Given the description of an element on the screen output the (x, y) to click on. 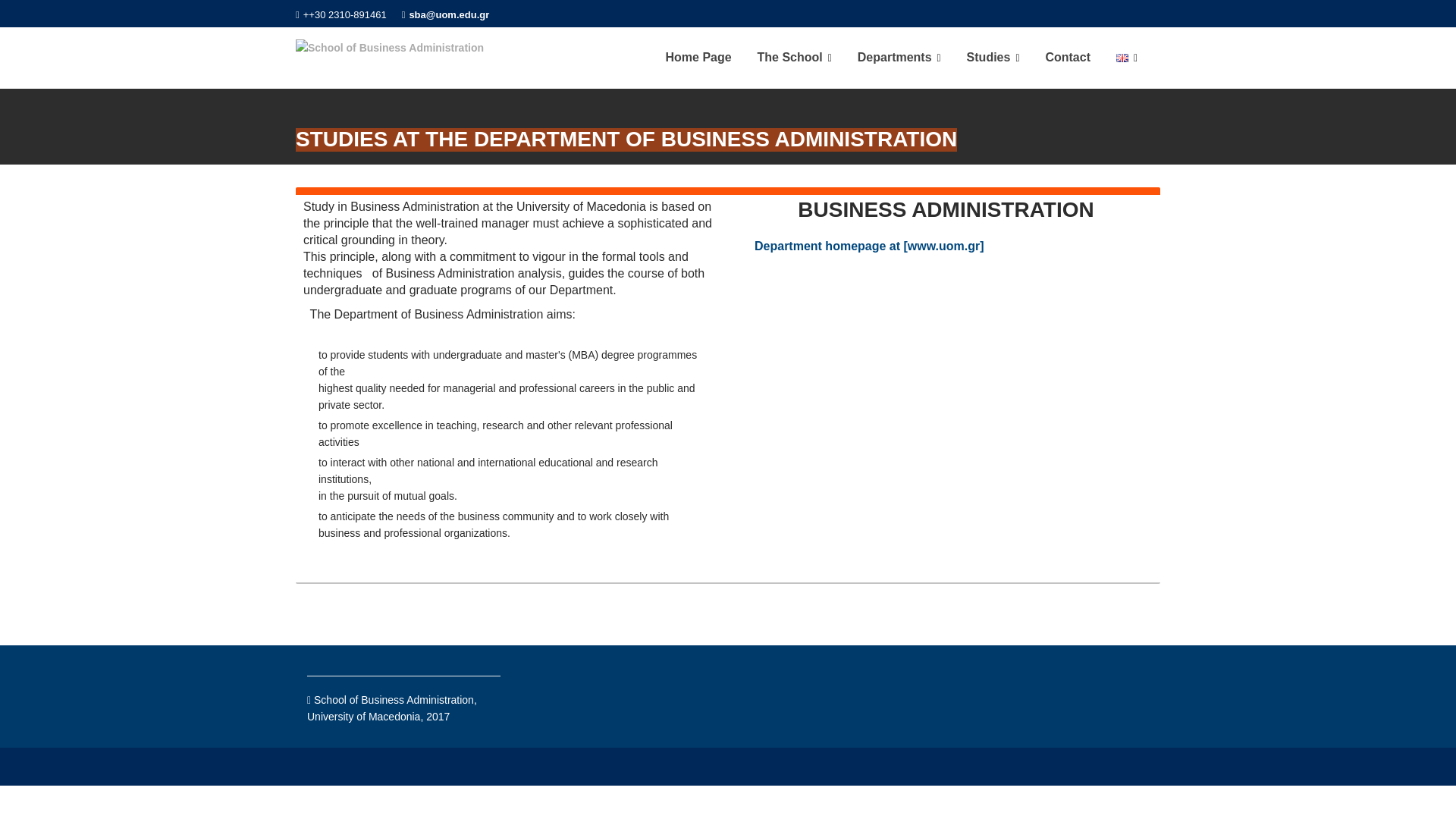
Contact (1067, 57)
Studies (992, 57)
Departments (898, 57)
Home Page (697, 57)
The School (794, 57)
English (1122, 58)
